Given the description of an element on the screen output the (x, y) to click on. 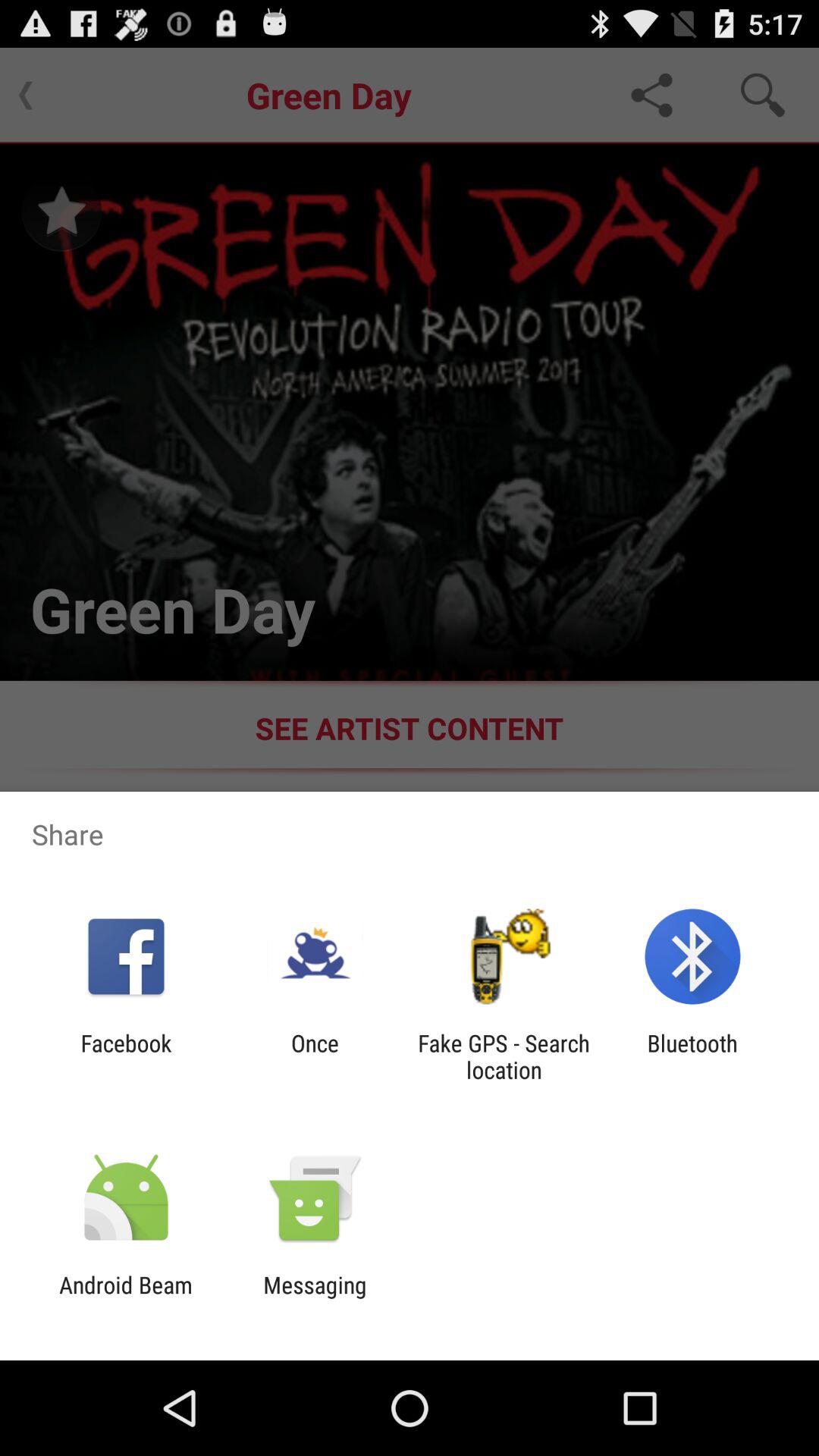
click app to the left of messaging item (125, 1298)
